Given the description of an element on the screen output the (x, y) to click on. 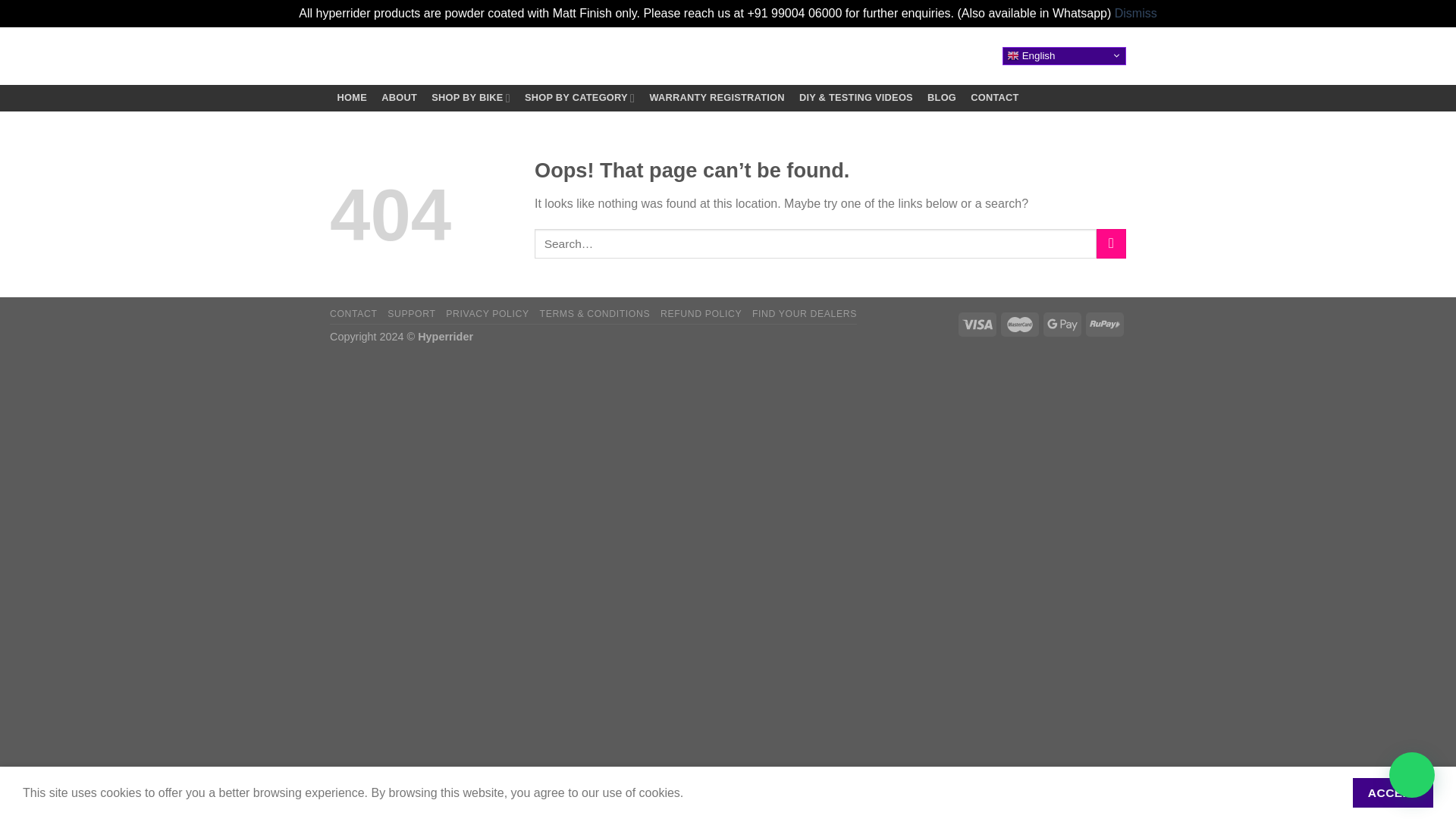
SHOP BY BIKE (471, 97)
HOME (352, 97)
Hyperrider - Motorcycle Accessories Online Store (405, 55)
Login (934, 55)
Dismiss (1136, 12)
Wishlist (901, 55)
English (1064, 55)
ABOUT (399, 97)
Cart (971, 55)
Search (855, 55)
